Given the description of an element on the screen output the (x, y) to click on. 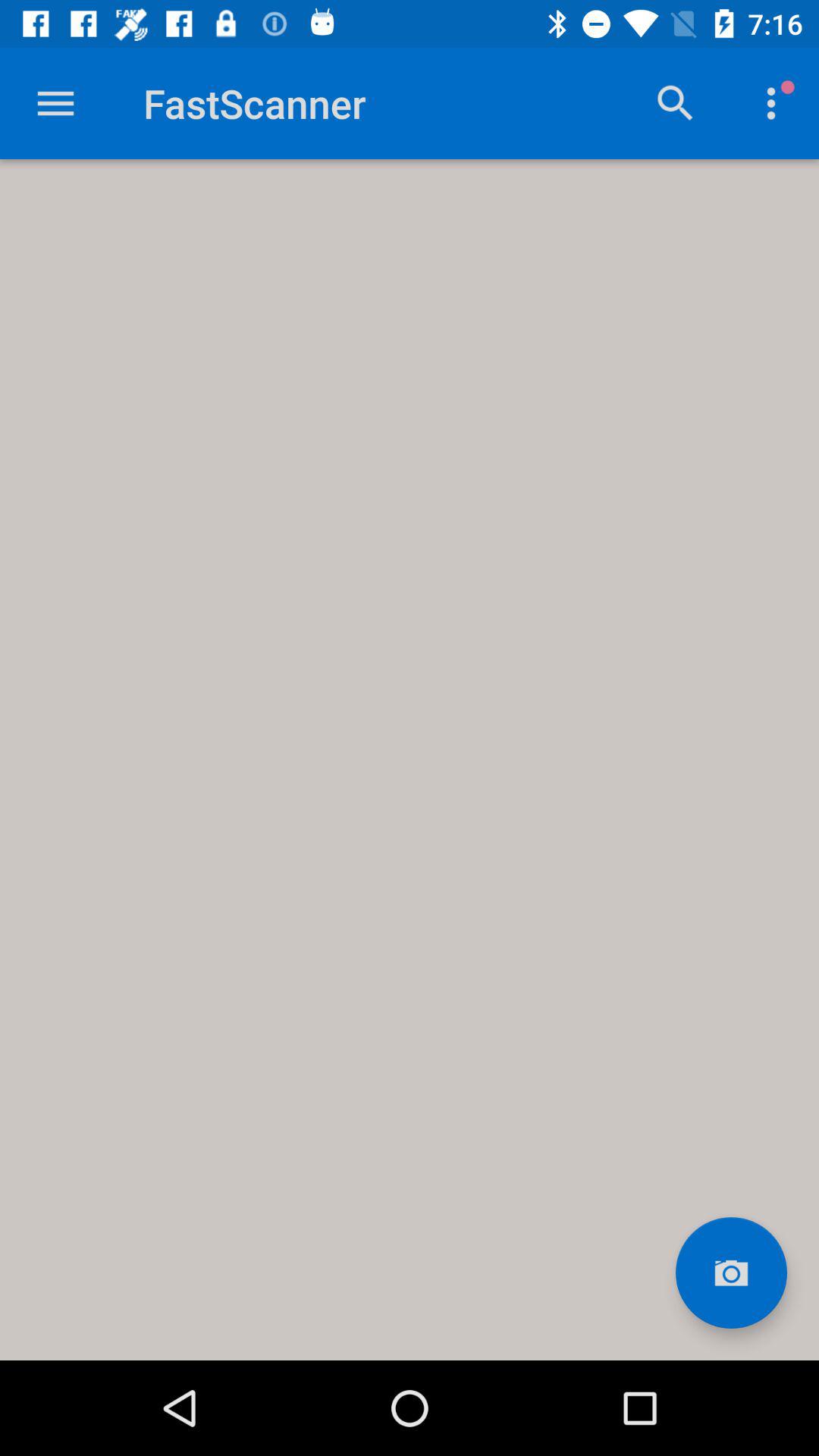
search option (675, 103)
